Given the description of an element on the screen output the (x, y) to click on. 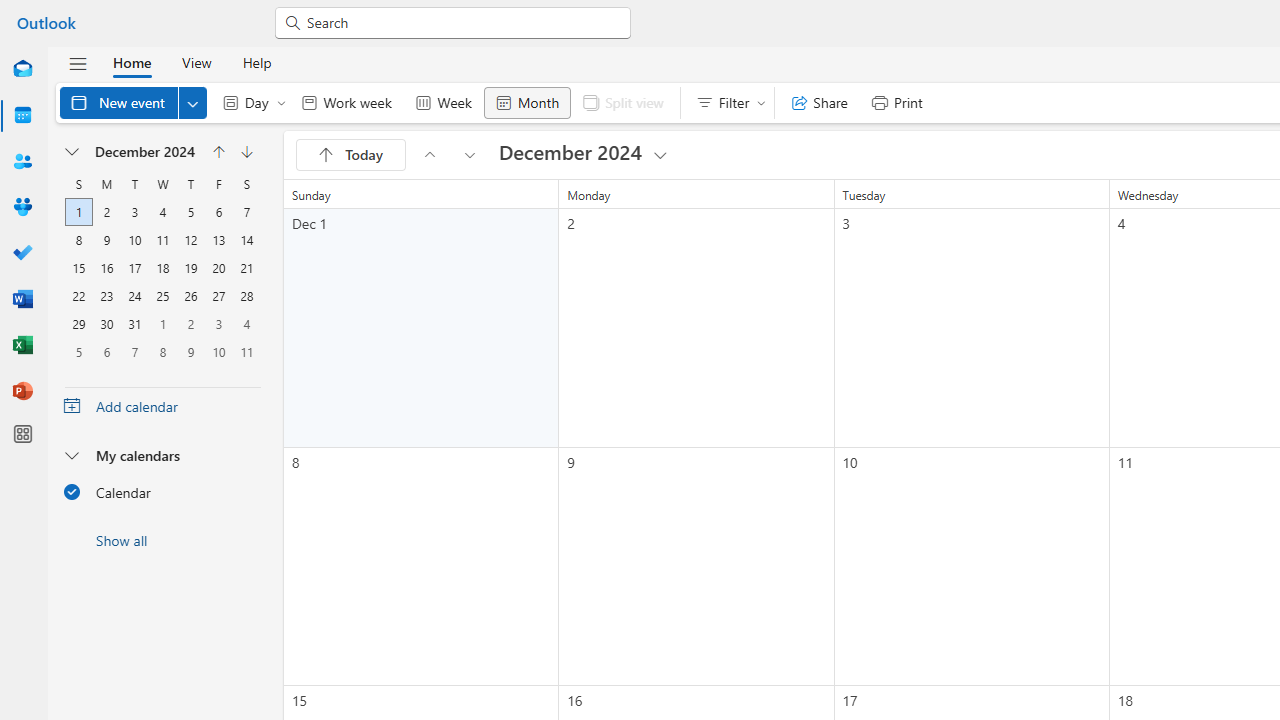
19, December, 2024 (191, 268)
System (10, 11)
Add calendar (162, 406)
Wednesday (162, 183)
25, December, 2024 (163, 295)
Monday (107, 183)
21, December, 2024 (246, 268)
Calendar (162, 491)
9, January, 2025 (190, 351)
21, December, 2024 (246, 268)
20, December, 2024 (218, 268)
11, January, 2025 (246, 351)
1, January, 2025 (163, 323)
Search (461, 21)
3, December, 2024 (134, 212)
